Given the description of an element on the screen output the (x, y) to click on. 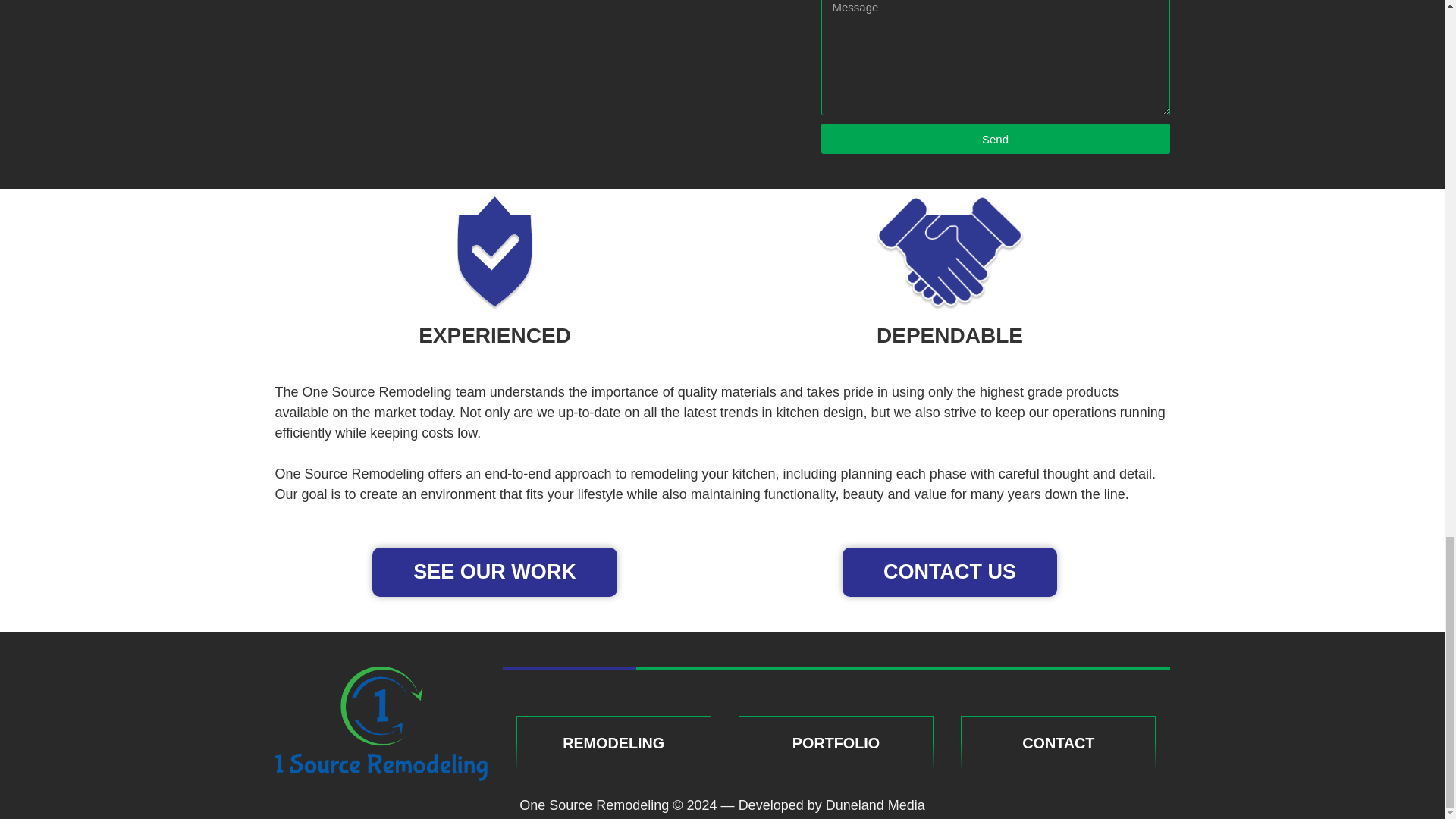
SEE OUR WORK (494, 572)
REMODELING (613, 743)
Duneland Media (874, 805)
PORTFOLIO (836, 743)
CONTACT US (950, 572)
Send (995, 138)
CONTACT (1057, 743)
